Given the description of an element on the screen output the (x, y) to click on. 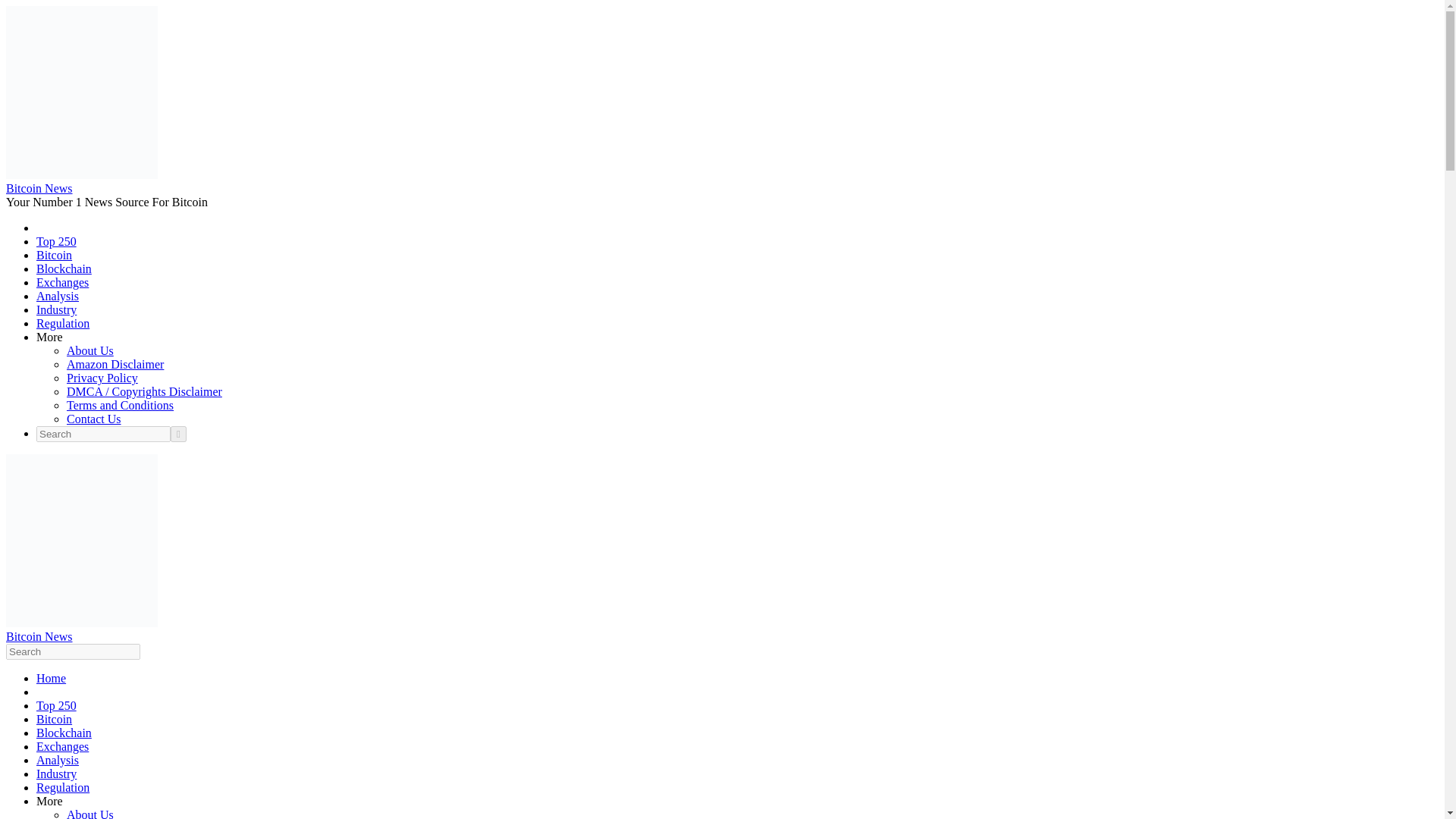
Bitcoin News (38, 187)
Analysis (57, 759)
Bitcoin News (38, 635)
Home (50, 677)
Terms and Conditions (119, 404)
Exchanges (62, 282)
Top 250 (56, 705)
Contact Us (93, 418)
Exchanges (62, 746)
Regulation (62, 787)
Blockchain (63, 268)
More (49, 336)
About Us (89, 813)
Top 250 (56, 241)
More (49, 800)
